Given the description of an element on the screen output the (x, y) to click on. 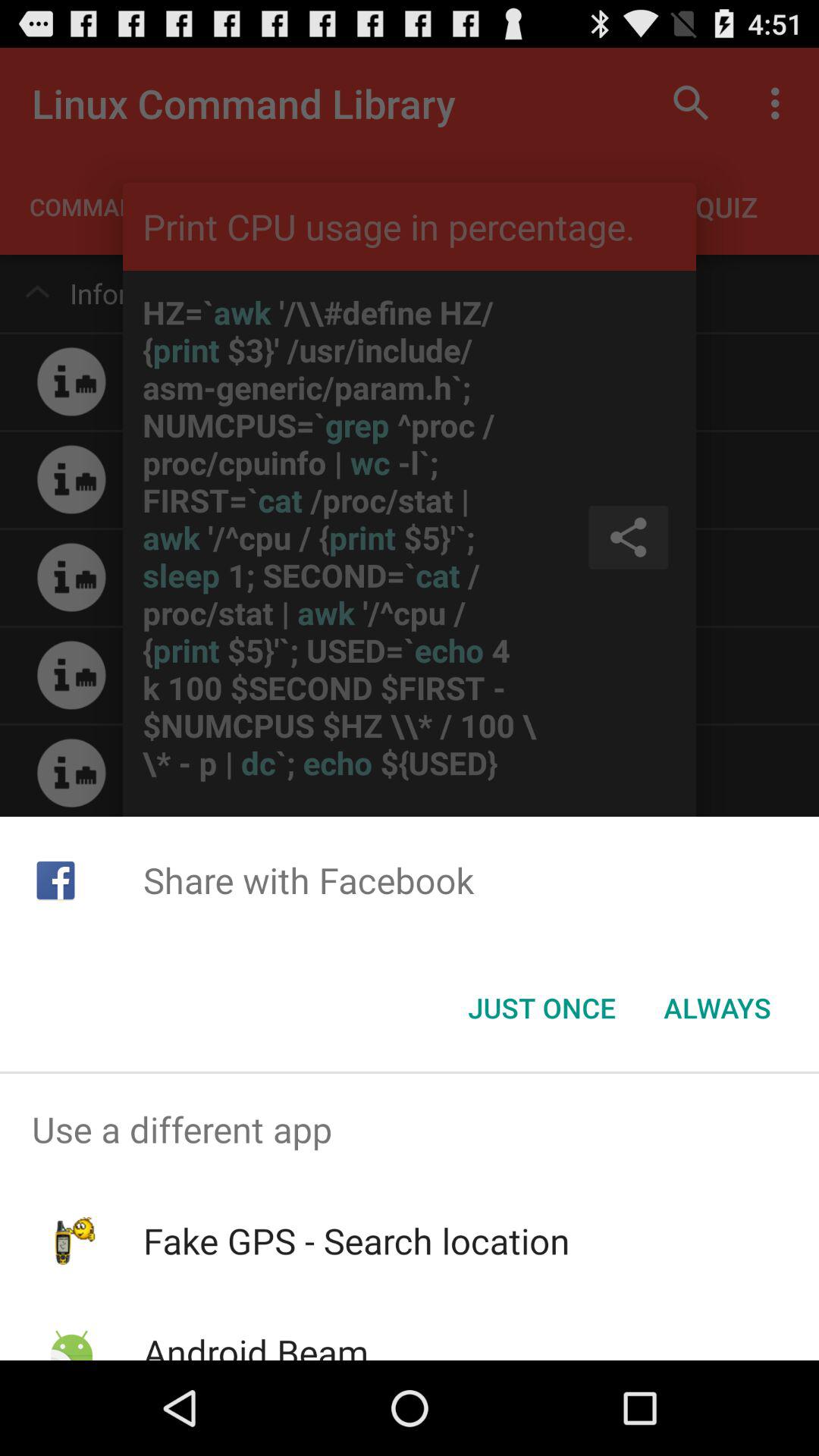
tap app above fake gps search (409, 1129)
